Given the description of an element on the screen output the (x, y) to click on. 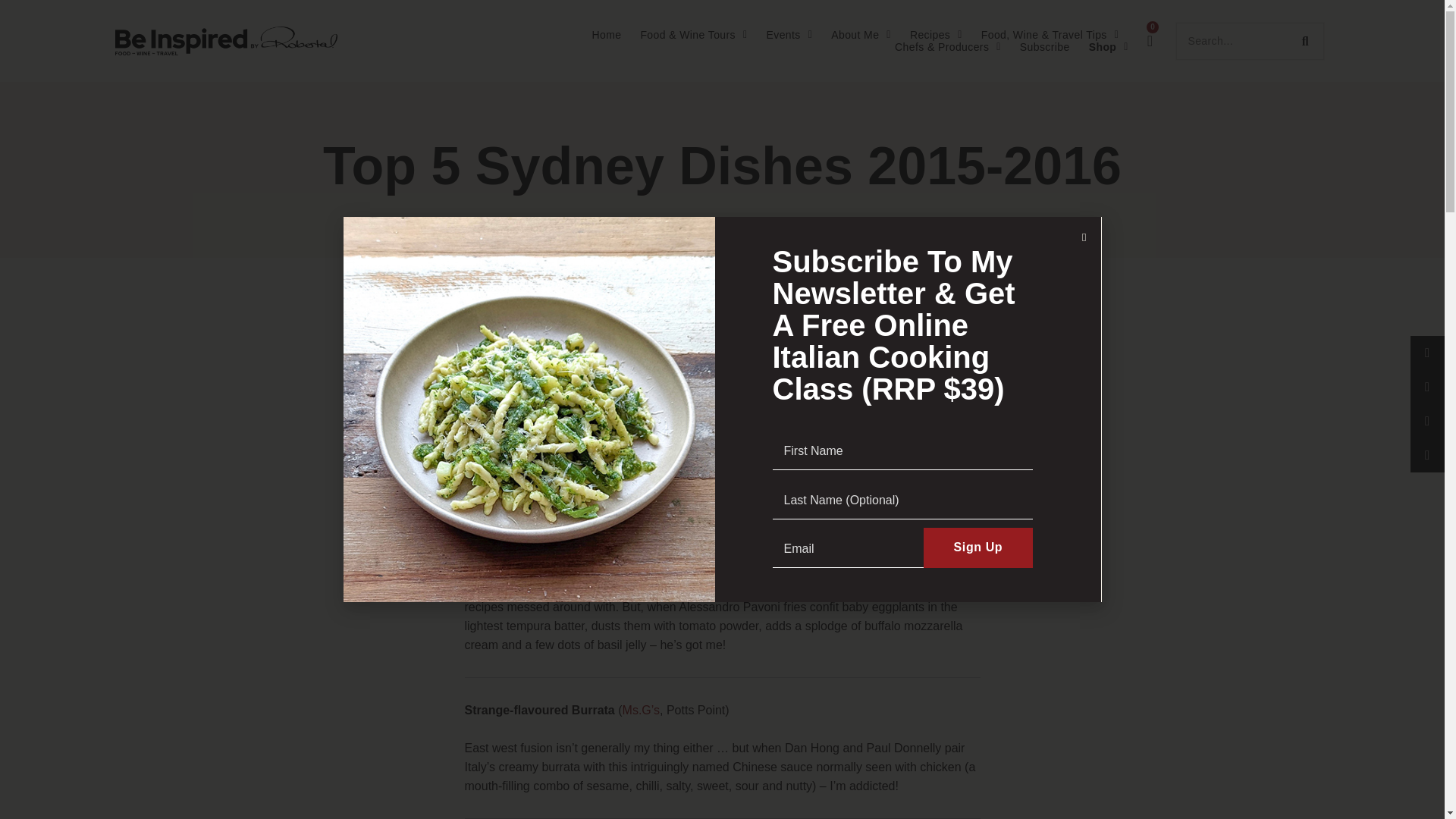
Home (606, 34)
About Me (861, 34)
Recipes (936, 34)
Sign up (978, 547)
Shop (1108, 46)
Events (789, 34)
Subscribe (1045, 46)
